Given the description of an element on the screen output the (x, y) to click on. 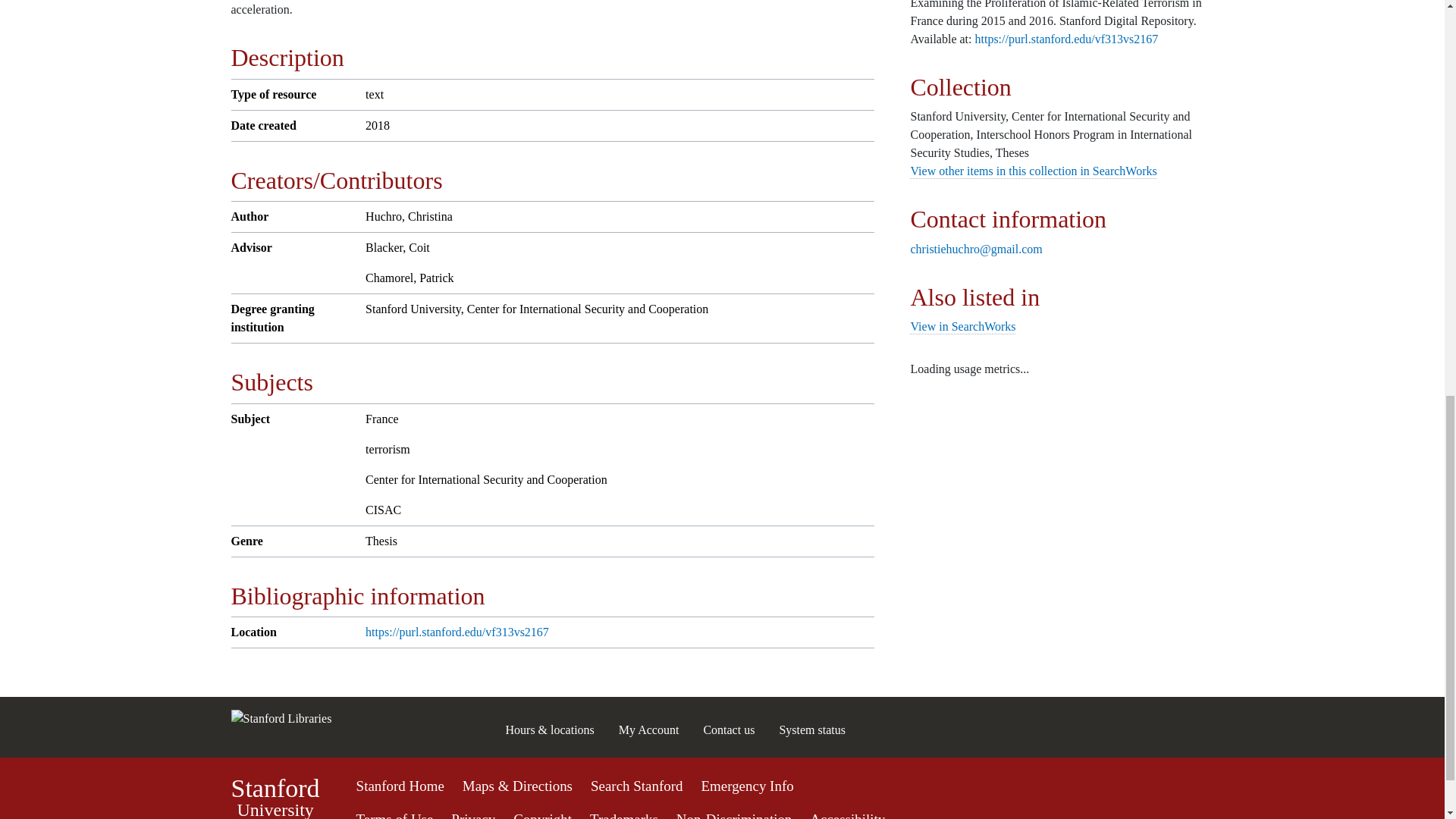
Contact us (728, 729)
Report web accessibility issues (847, 815)
Ownership and use of Stanford trademarks and images (623, 815)
Non-discrimination policy (274, 797)
View in SearchWorks (734, 815)
View other items in this collection in SearchWorks (962, 326)
System status (1033, 170)
Common Stanford resources (811, 729)
My Account (722, 797)
Terms of use for sites (648, 729)
Report alleged copyright infringement (394, 815)
Privacy and cookie policy (542, 815)
